Given the description of an element on the screen output the (x, y) to click on. 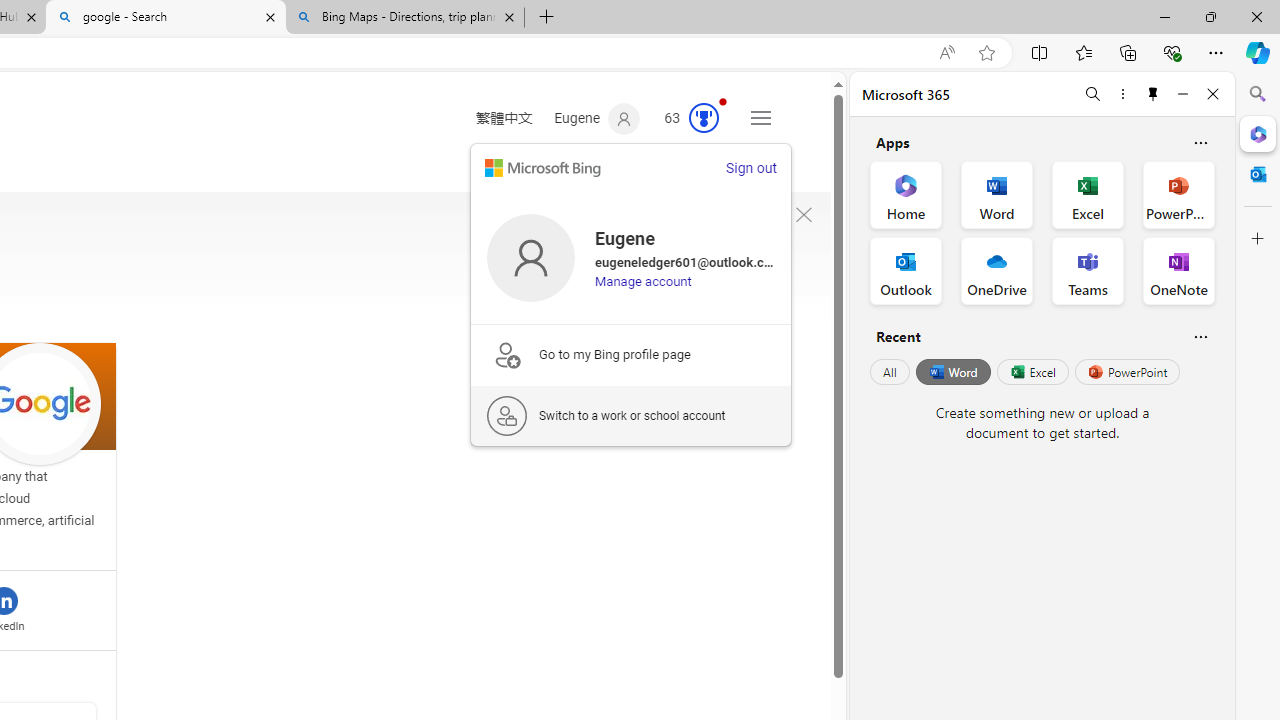
Home Office App (906, 194)
Animation (723, 101)
All (890, 372)
Sign out (750, 168)
Settings and quick links (760, 117)
